Given the description of an element on the screen output the (x, y) to click on. 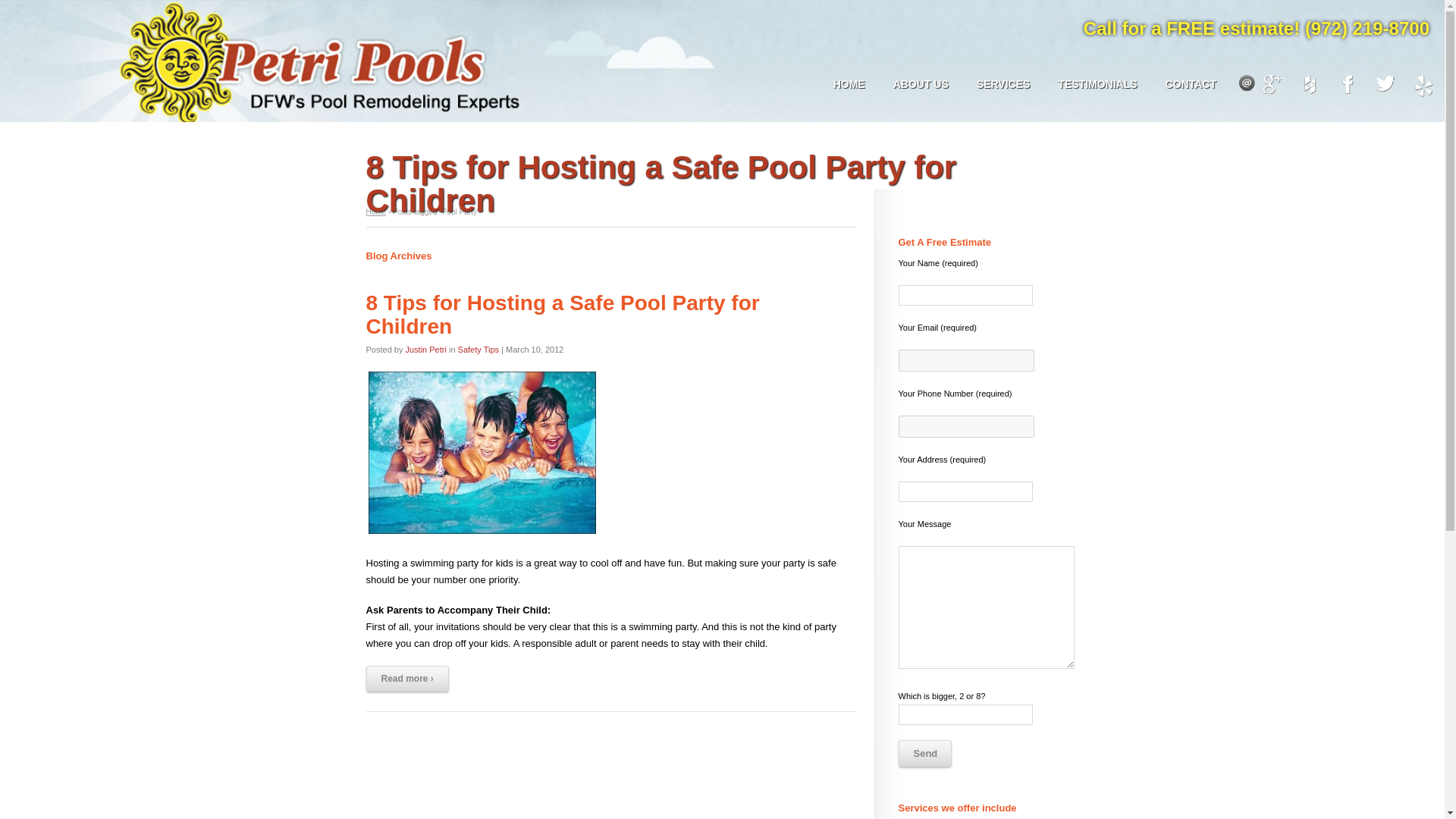
Posts by Justin Petri (424, 349)
E-mail (1247, 83)
Justin Petri (424, 349)
kids-at-pool (480, 453)
8 Tips for Hosting a Safe Pool Party for Children (561, 315)
Home (375, 212)
HOME (849, 84)
ABOUT US (920, 84)
SERVICES (1002, 84)
E-MAIL ICON (1247, 83)
